Given the description of an element on the screen output the (x, y) to click on. 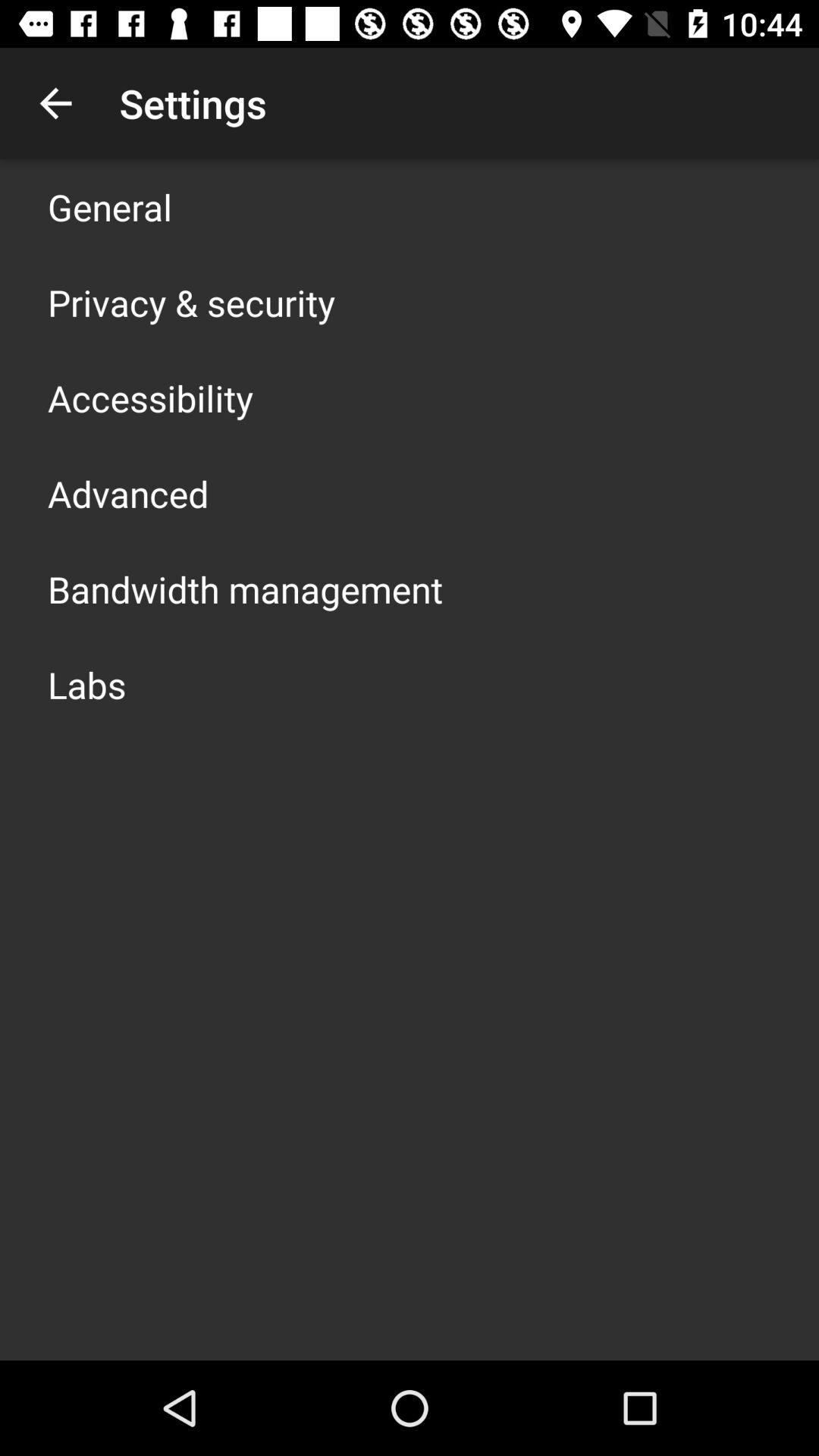
turn on labs icon (86, 684)
